Given the description of an element on the screen output the (x, y) to click on. 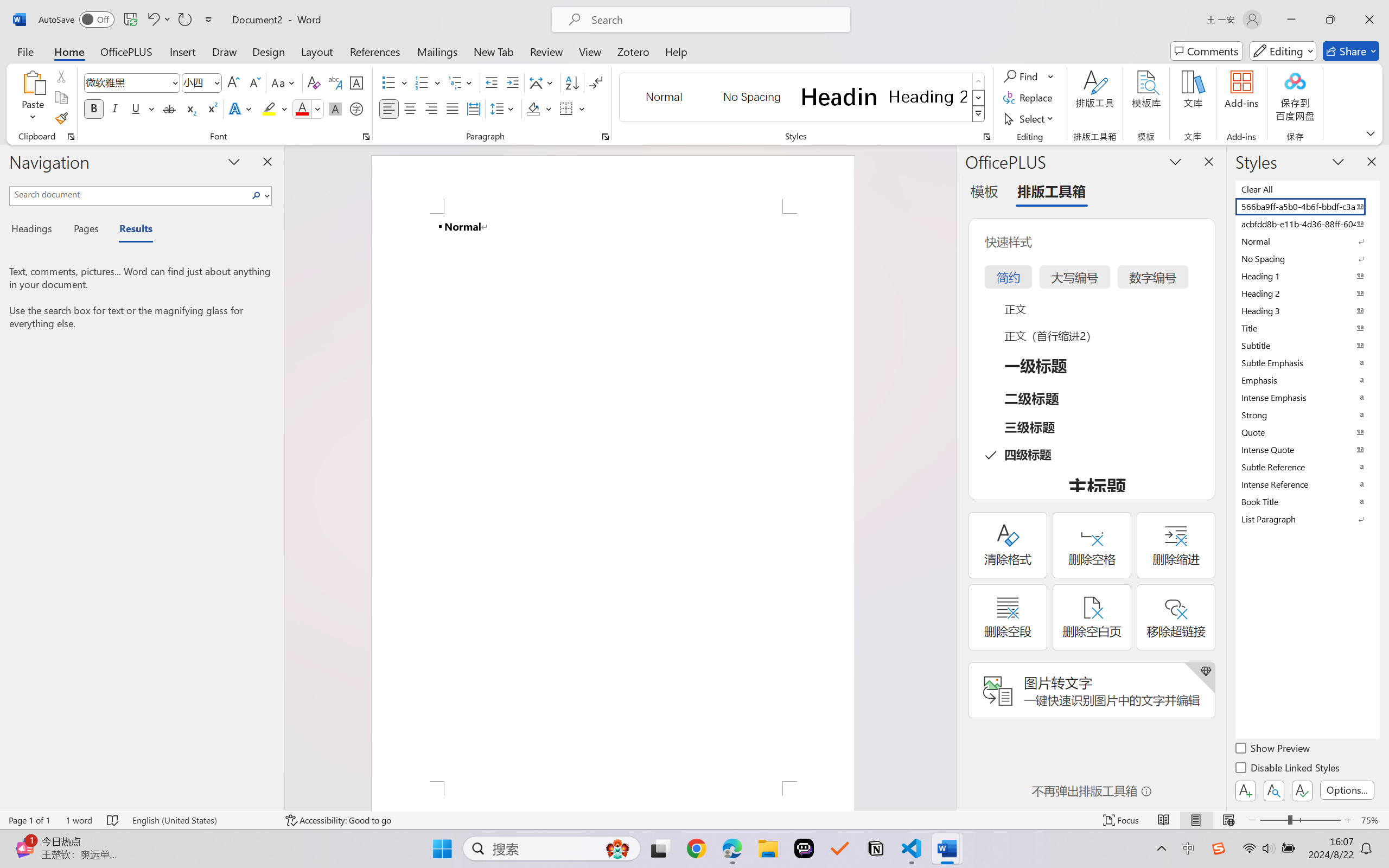
Font Size (196, 82)
AutoSave (76, 19)
Row Down (978, 97)
Heading 1 (839, 96)
Mode (1283, 50)
Layout (316, 51)
Office Clipboard... (70, 136)
Print Layout (1196, 819)
Cut (60, 75)
Center (409, 108)
Open (215, 82)
Share (1350, 51)
Undo Text Fill Effect (152, 19)
Review (546, 51)
